Given the description of an element on the screen output the (x, y) to click on. 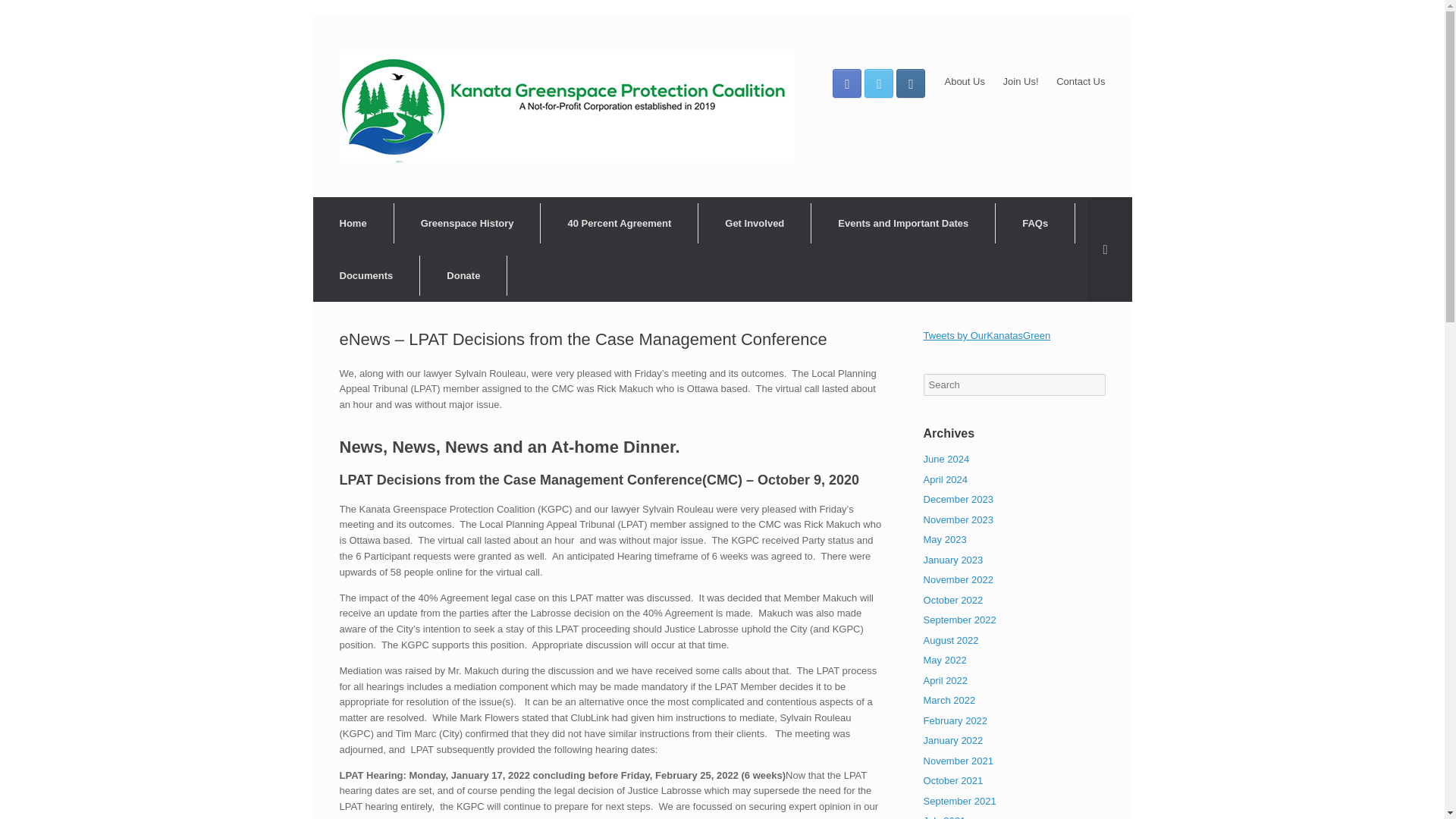
May 2022 (944, 659)
Contact Us (1081, 81)
Kanata Greenspace Protection Coalition Facebook (846, 82)
Tweets by OurKanatasGreen (987, 335)
Events and Important Dates (902, 223)
April 2024 (945, 478)
May 2023 (944, 539)
40 Percent Agreement (619, 223)
Home (353, 223)
Join Us! (1021, 81)
